Given the description of an element on the screen output the (x, y) to click on. 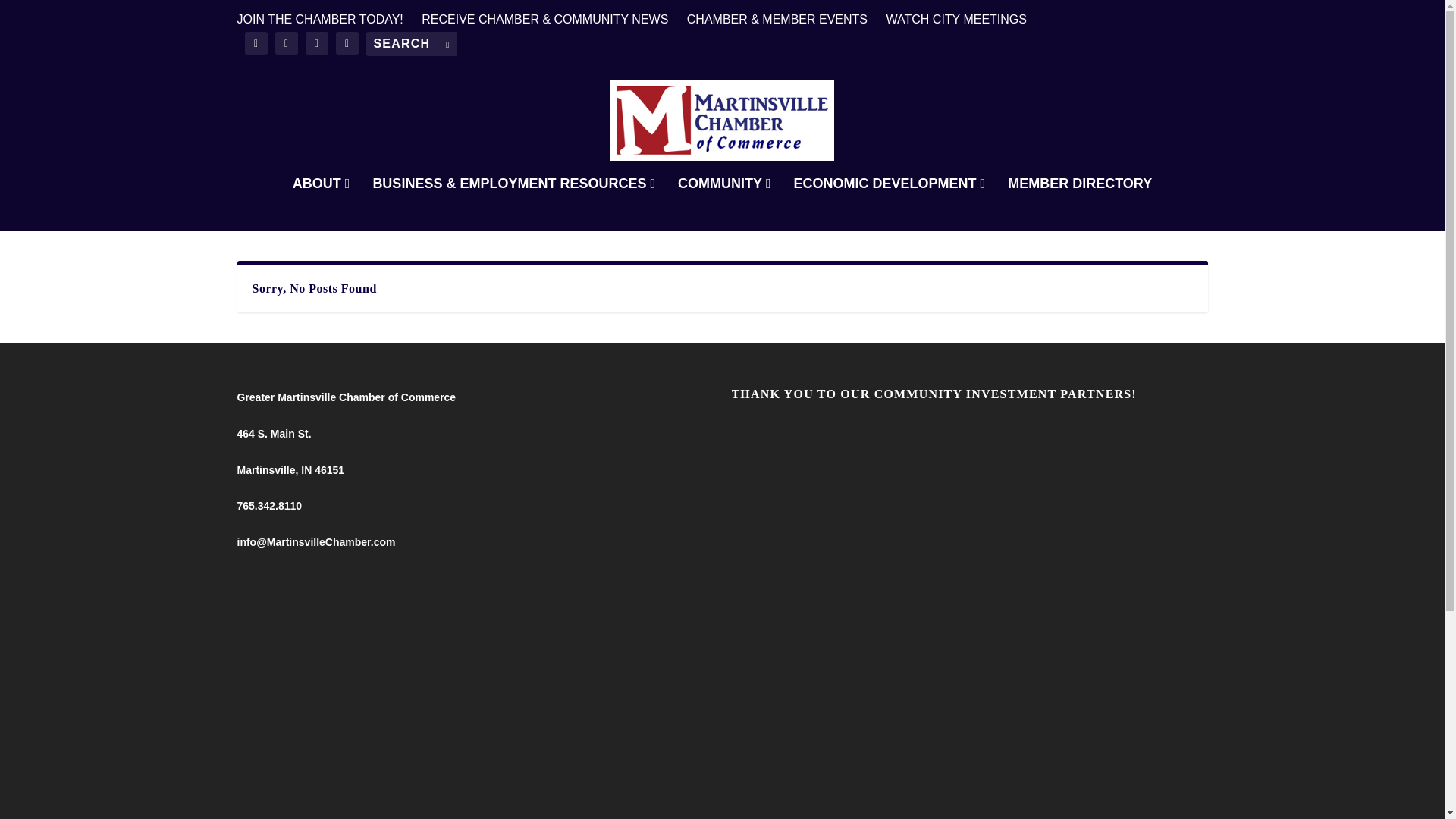
MEMBER DIRECTORY (1079, 203)
Search for: (411, 43)
JOIN THE CHAMBER TODAY! (319, 19)
WATCH CITY MEETINGS (955, 19)
COMMUNITY (724, 203)
ECONOMIC DEVELOPMENT (889, 203)
ABOUT (321, 203)
